Given the description of an element on the screen output the (x, y) to click on. 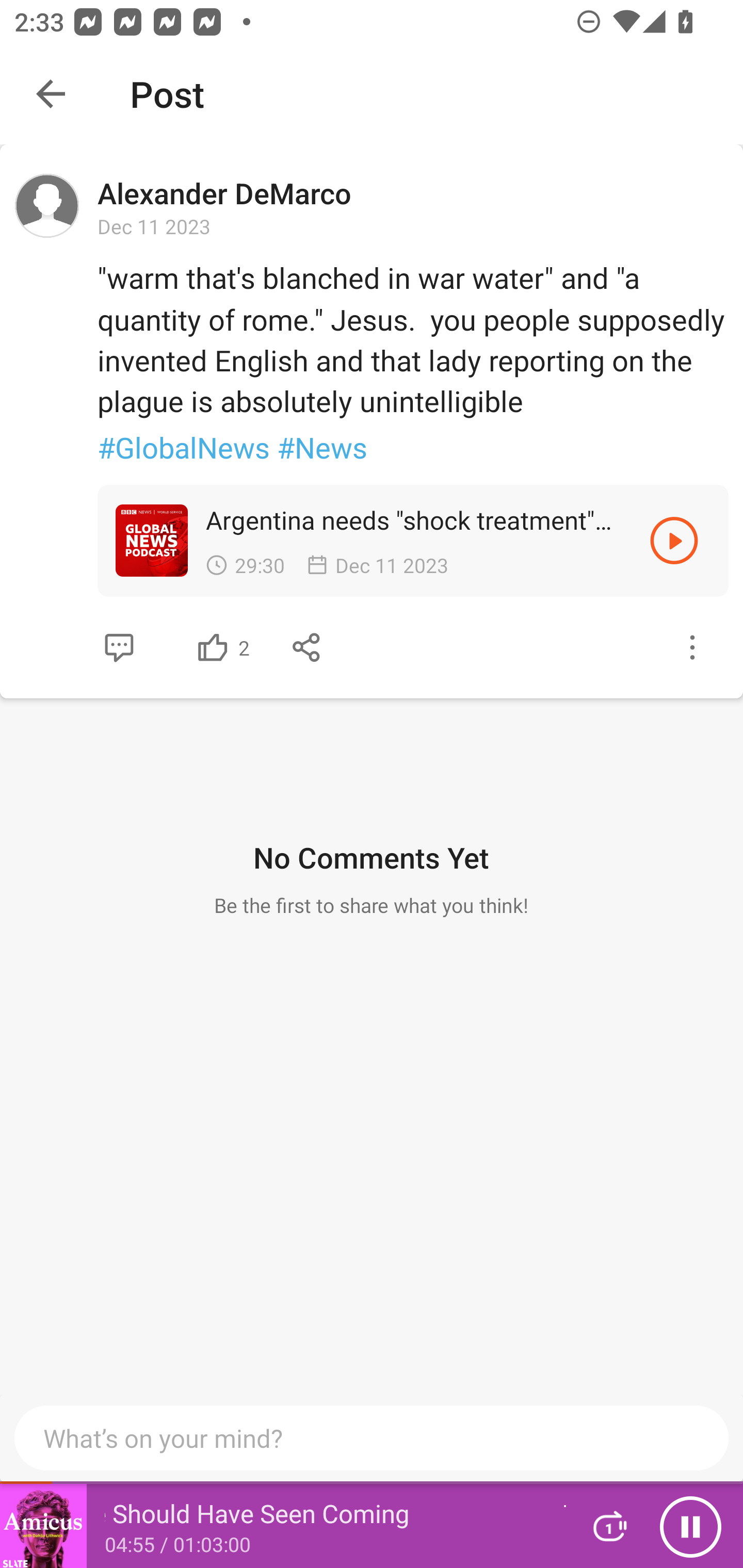
Navigate up (50, 93)
 (673, 540)
 (119, 647)
 (212, 647)
 (307, 647)
 (692, 647)
What’s on your mind? (371, 1437)
Pause (690, 1526)
